Given the description of an element on the screen output the (x, y) to click on. 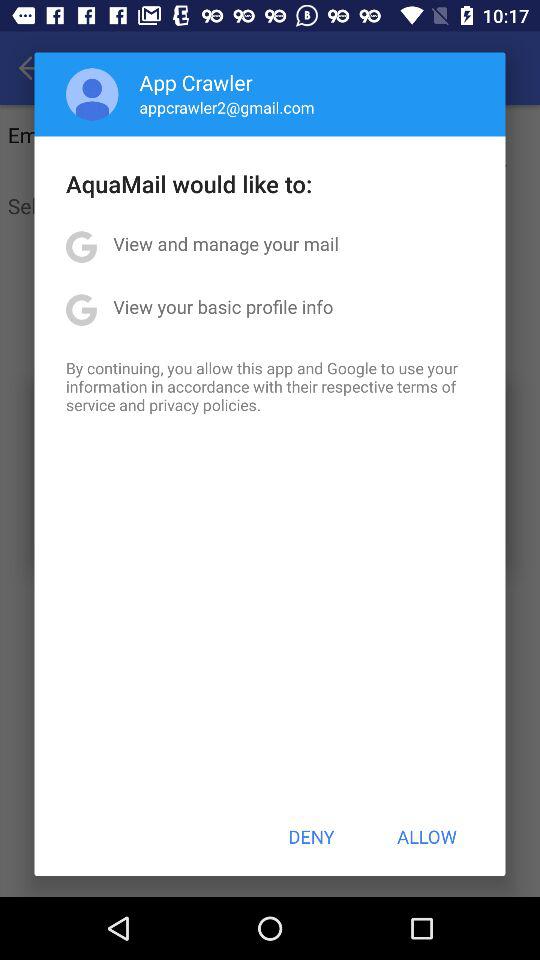
click app below app crawler app (226, 107)
